Given the description of an element on the screen output the (x, y) to click on. 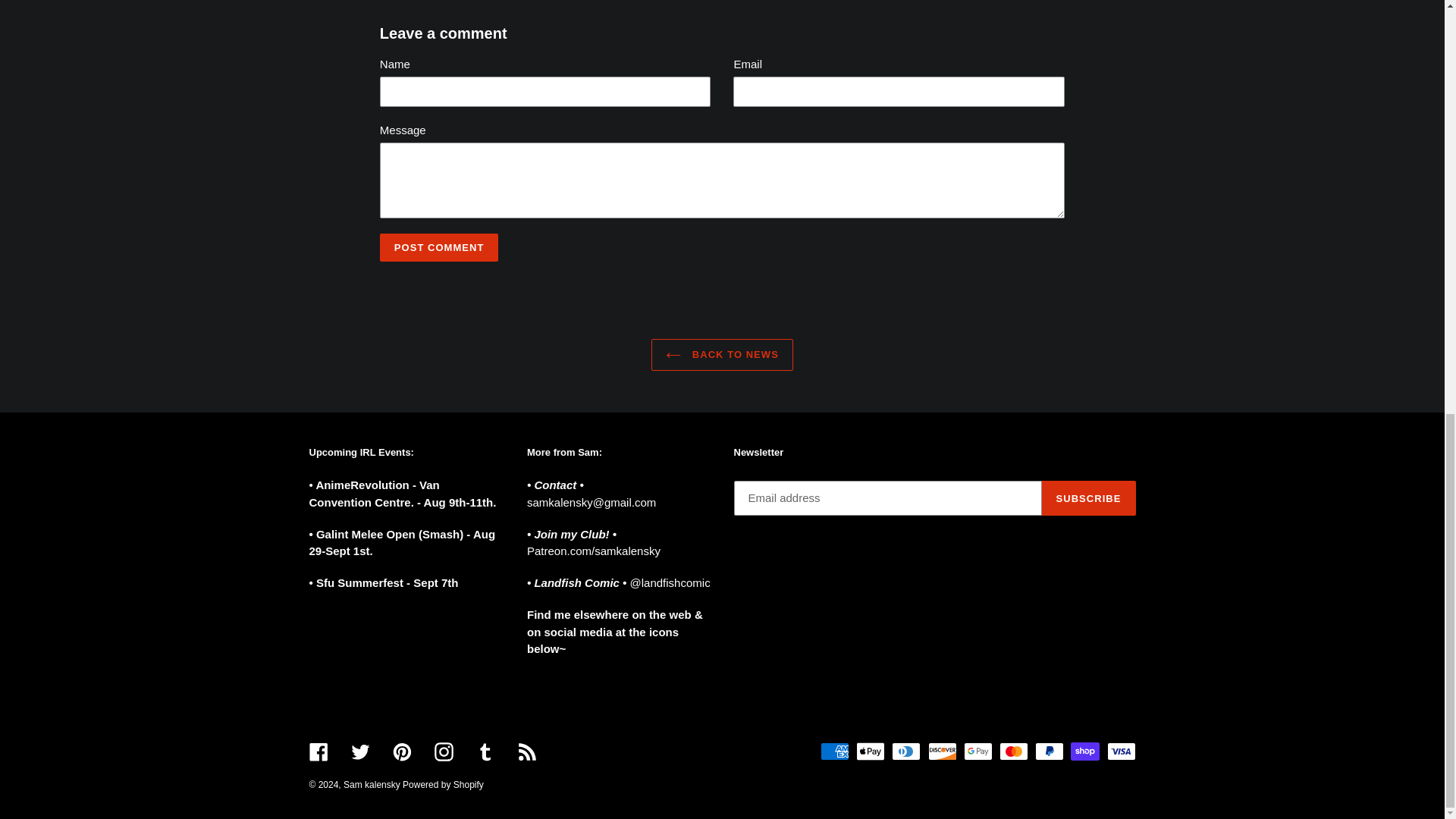
Post comment (439, 247)
